Given the description of an element on the screen output the (x, y) to click on. 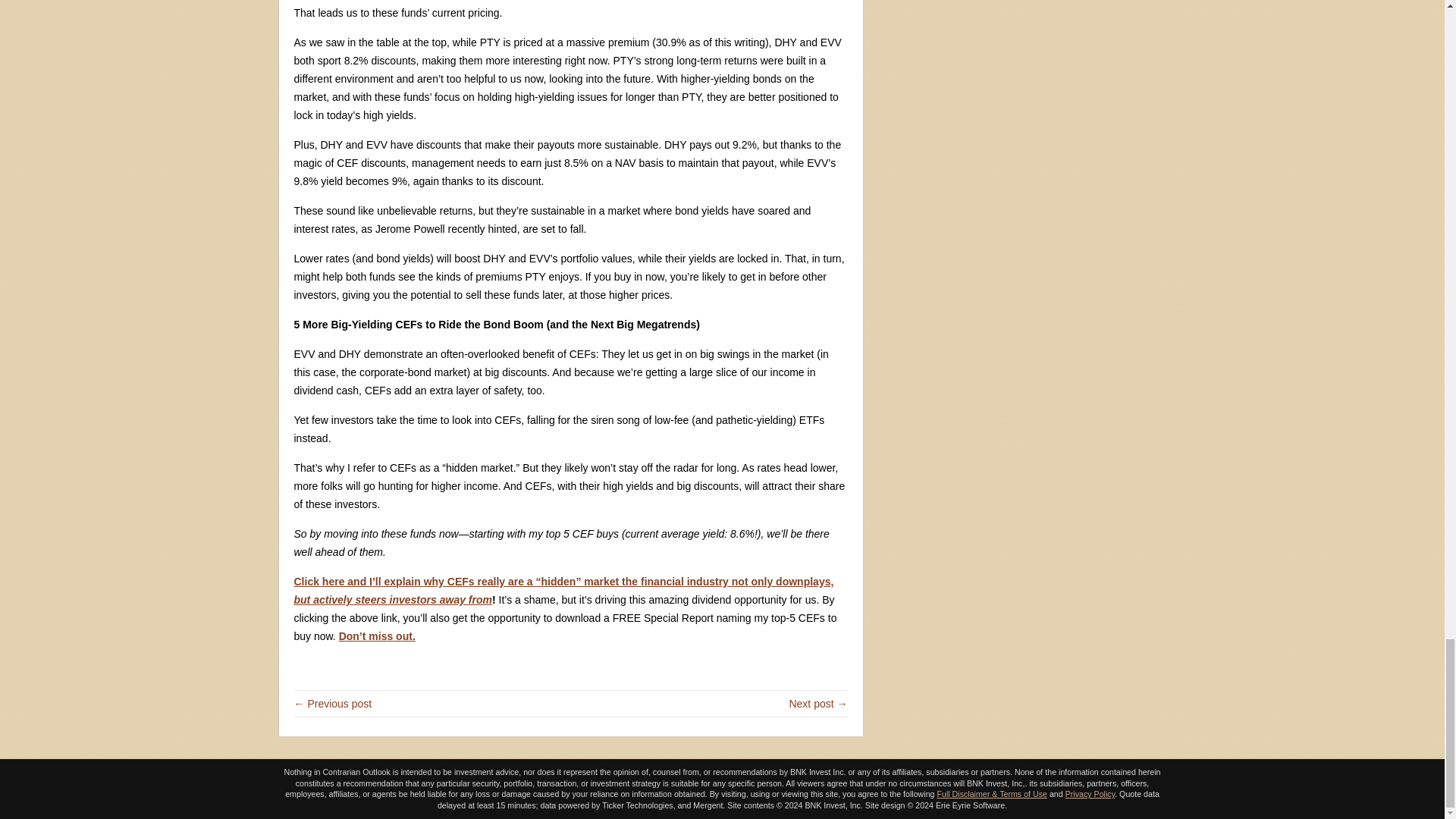
Privacy Policy (1090, 793)
Any Bitcoin Stocks Pay Dividends? Yeah, Here's a Back Door (333, 703)
5 Dividends That Will Soar When the Fed Cuts Rates (818, 703)
